Given the description of an element on the screen output the (x, y) to click on. 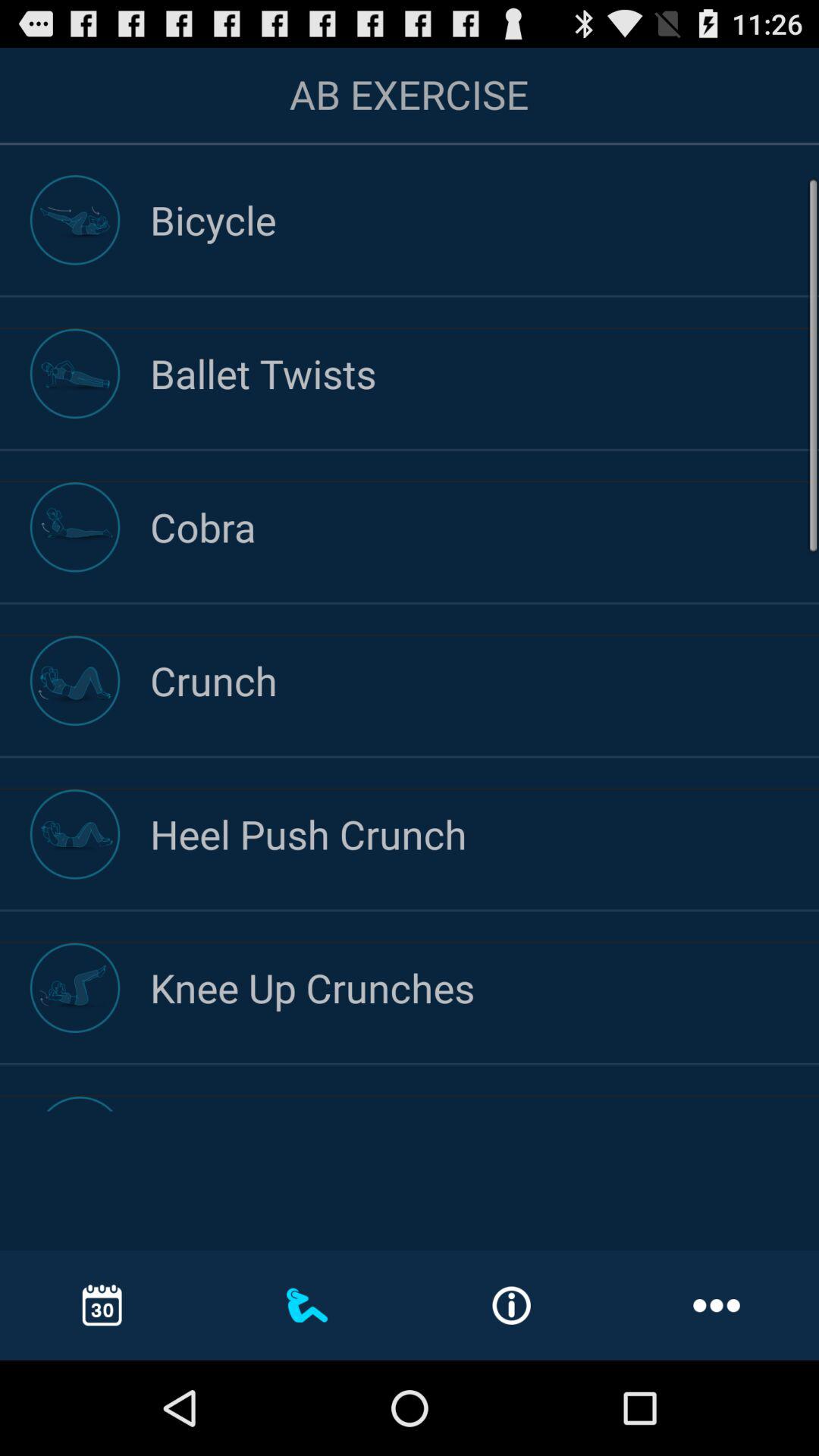
jump until heel push crunch app (484, 833)
